Given the description of an element on the screen output the (x, y) to click on. 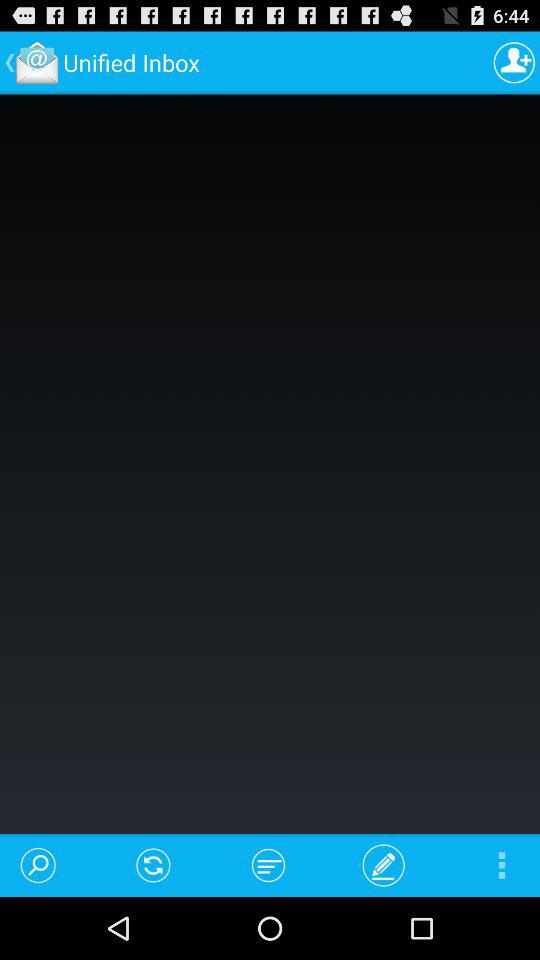
add an email account (514, 62)
